Given the description of an element on the screen output the (x, y) to click on. 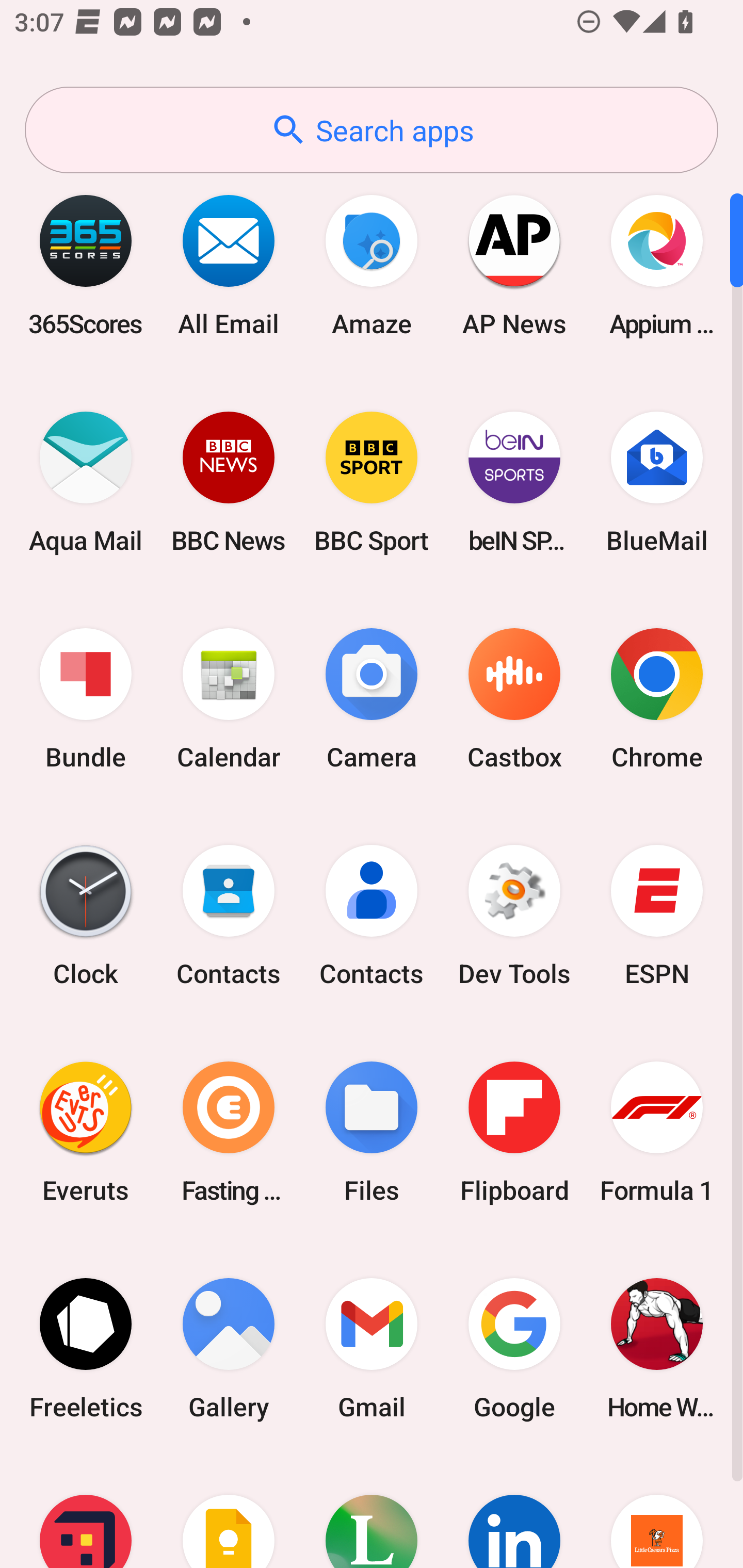
  Search apps (371, 130)
365Scores (85, 264)
All Email (228, 264)
Amaze (371, 264)
AP News (514, 264)
Appium Settings (656, 264)
Aqua Mail (85, 482)
BBC News (228, 482)
BBC Sport (371, 482)
beIN SPORTS (514, 482)
BlueMail (656, 482)
Bundle (85, 699)
Calendar (228, 699)
Camera (371, 699)
Castbox (514, 699)
Chrome (656, 699)
Clock (85, 915)
Contacts (228, 915)
Contacts (371, 915)
Dev Tools (514, 915)
ESPN (656, 915)
Everuts (85, 1131)
Fasting Coach (228, 1131)
Files (371, 1131)
Flipboard (514, 1131)
Formula 1 (656, 1131)
Freeletics (85, 1348)
Gallery (228, 1348)
Gmail (371, 1348)
Google (514, 1348)
Home Workout (656, 1348)
Hotels.com (85, 1512)
Keep Notes (228, 1512)
Lifesum (371, 1512)
LinkedIn (514, 1512)
Little Caesars Pizza (656, 1512)
